Given the description of an element on the screen output the (x, y) to click on. 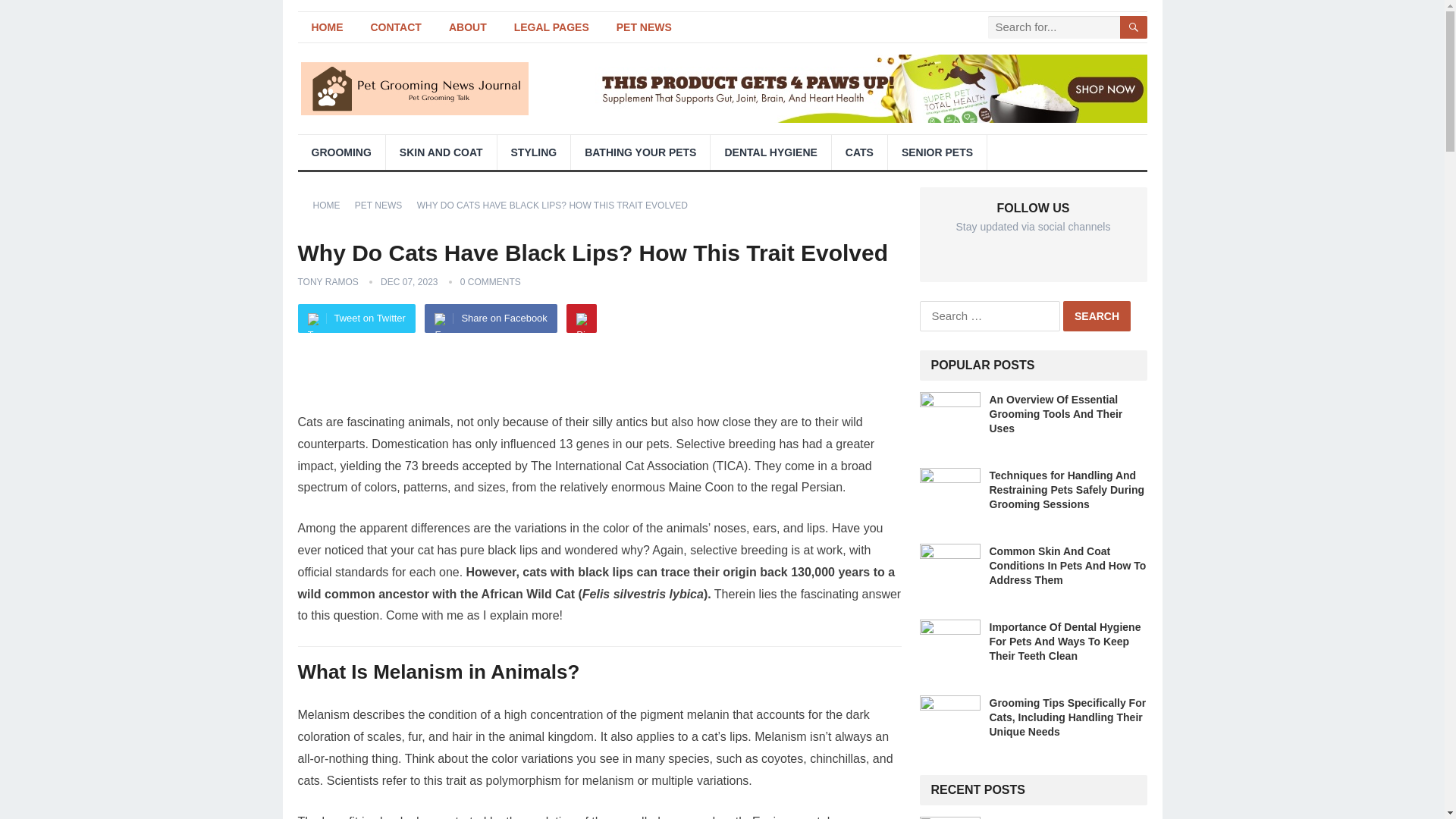
Pinterest (581, 317)
GROOMING (340, 152)
CONTACT (394, 27)
SKIN AND COAT (440, 152)
0 COMMENTS (490, 281)
ABOUT (467, 27)
View all posts in Pet News (383, 204)
Tweet on Twitter (355, 317)
PET NEWS (383, 204)
DENTAL HYGIENE (769, 152)
Share on Facebook (490, 317)
STYLING (533, 152)
SENIOR PETS (937, 152)
Search (1096, 316)
Posts by Tony Ramos (327, 281)
